Given the description of an element on the screen output the (x, y) to click on. 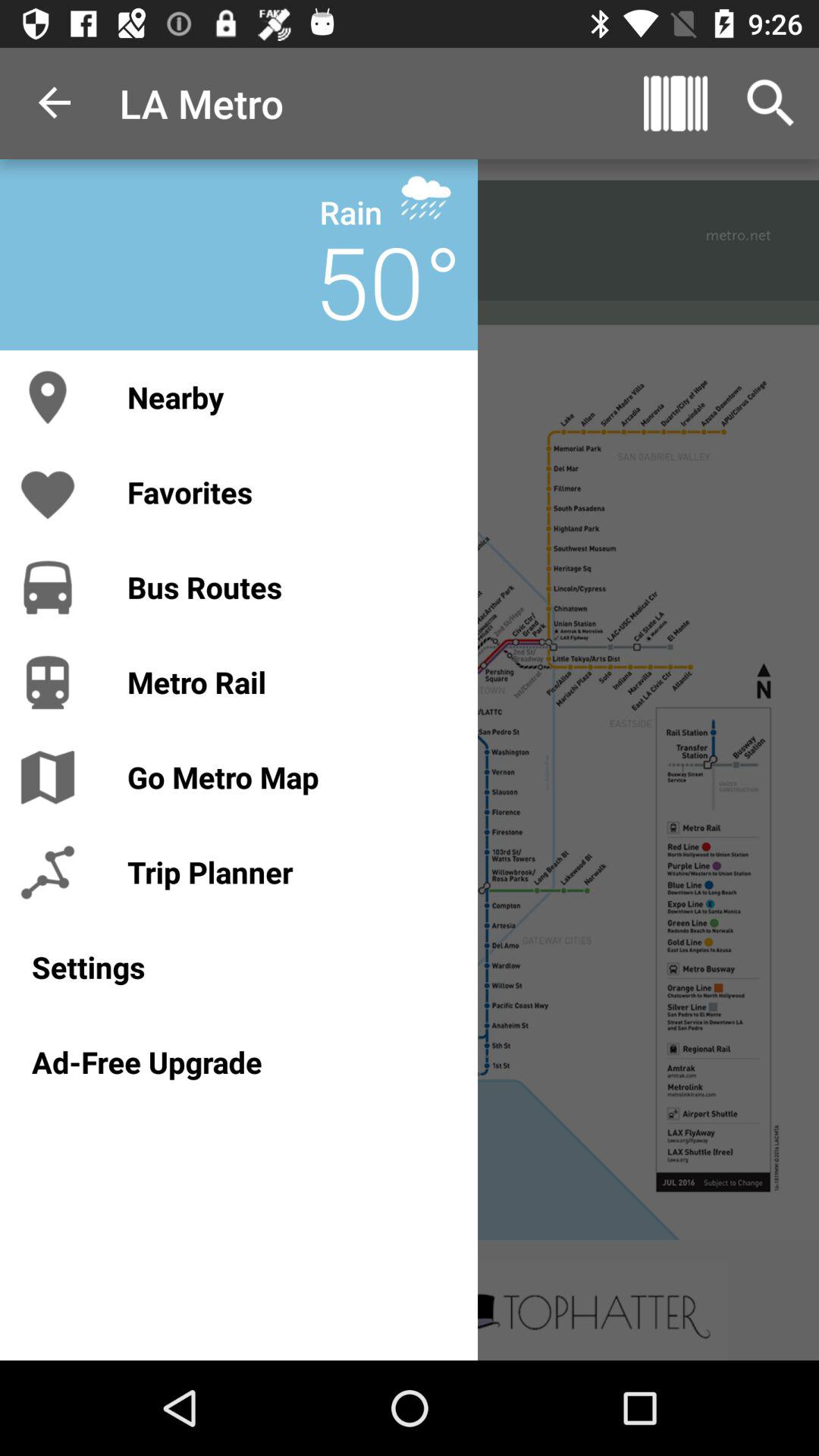
select metro rail (286, 682)
